Given the description of an element on the screen output the (x, y) to click on. 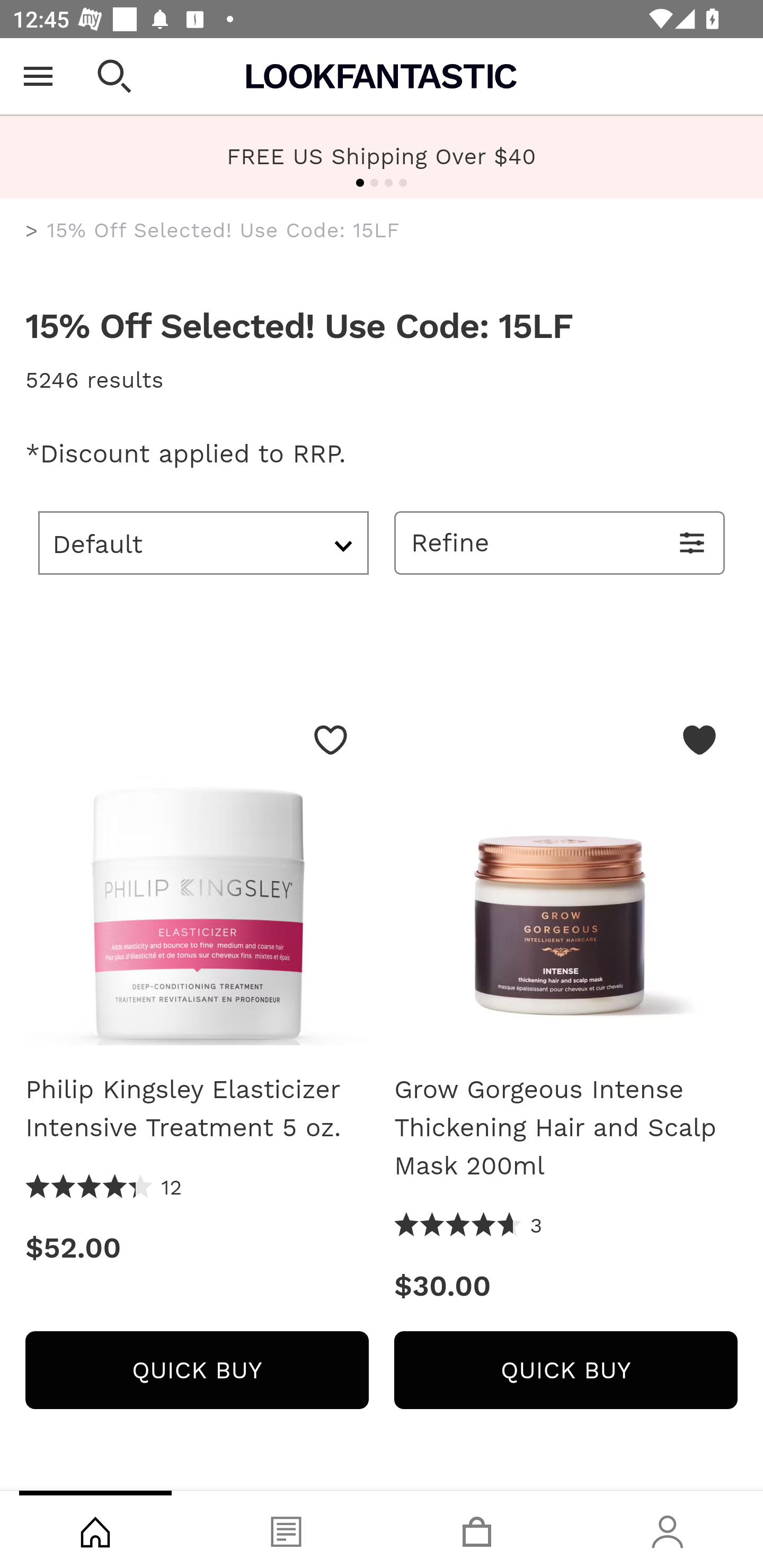
Open Menu (38, 75)
Open search (114, 75)
Lookfantastic USA (381, 75)
FREE US Shipping Over $40 (381, 157)
FREE US Shipping Over $40 (381, 155)
us.lookfantastic (32, 230)
Default (203, 542)
Refine (559, 542)
Save to Wishlist (330, 740)
Saved to Wishlist (698, 740)
4.33 Stars 12 Reviews (104, 1187)
4.67 Stars 3 Reviews (468, 1225)
Price: $52.00 (196, 1247)
Price: $30.00 (565, 1286)
Shop, tab, 1 of 4 (95, 1529)
Blog, tab, 2 of 4 (285, 1529)
Basket, tab, 3 of 4 (476, 1529)
Account, tab, 4 of 4 (667, 1529)
